Given the description of an element on the screen output the (x, y) to click on. 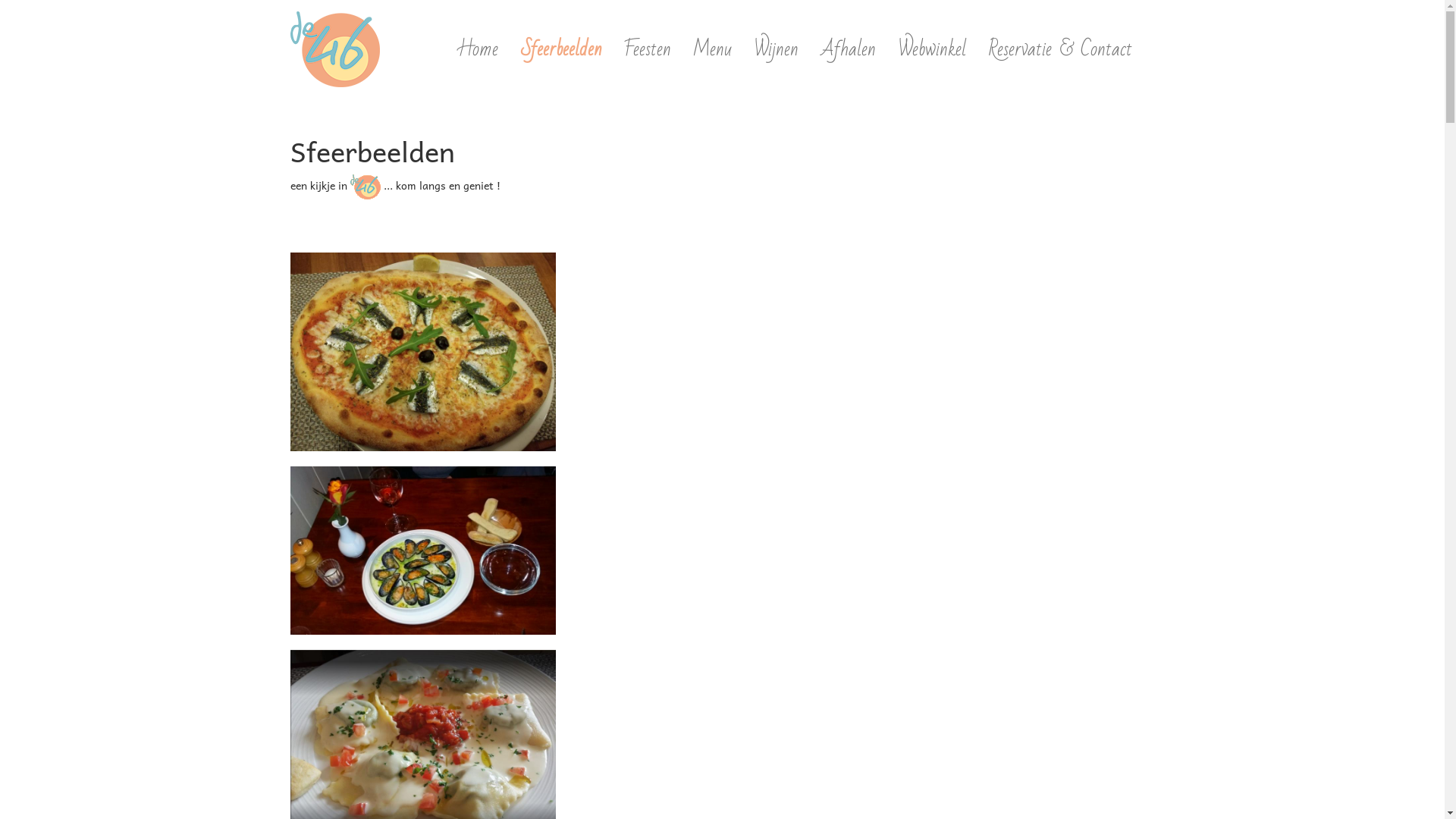
Webwinkel Element type: text (932, 49)
Feesten Element type: text (646, 49)
Reservatie & Contact Element type: text (1059, 49)
Afhalen Element type: text (848, 49)
Sfeerbeelden Element type: text (561, 49)
Home Element type: text (477, 49)
Wijnen Element type: text (776, 49)
Menu Element type: text (712, 49)
